Given the description of an element on the screen output the (x, y) to click on. 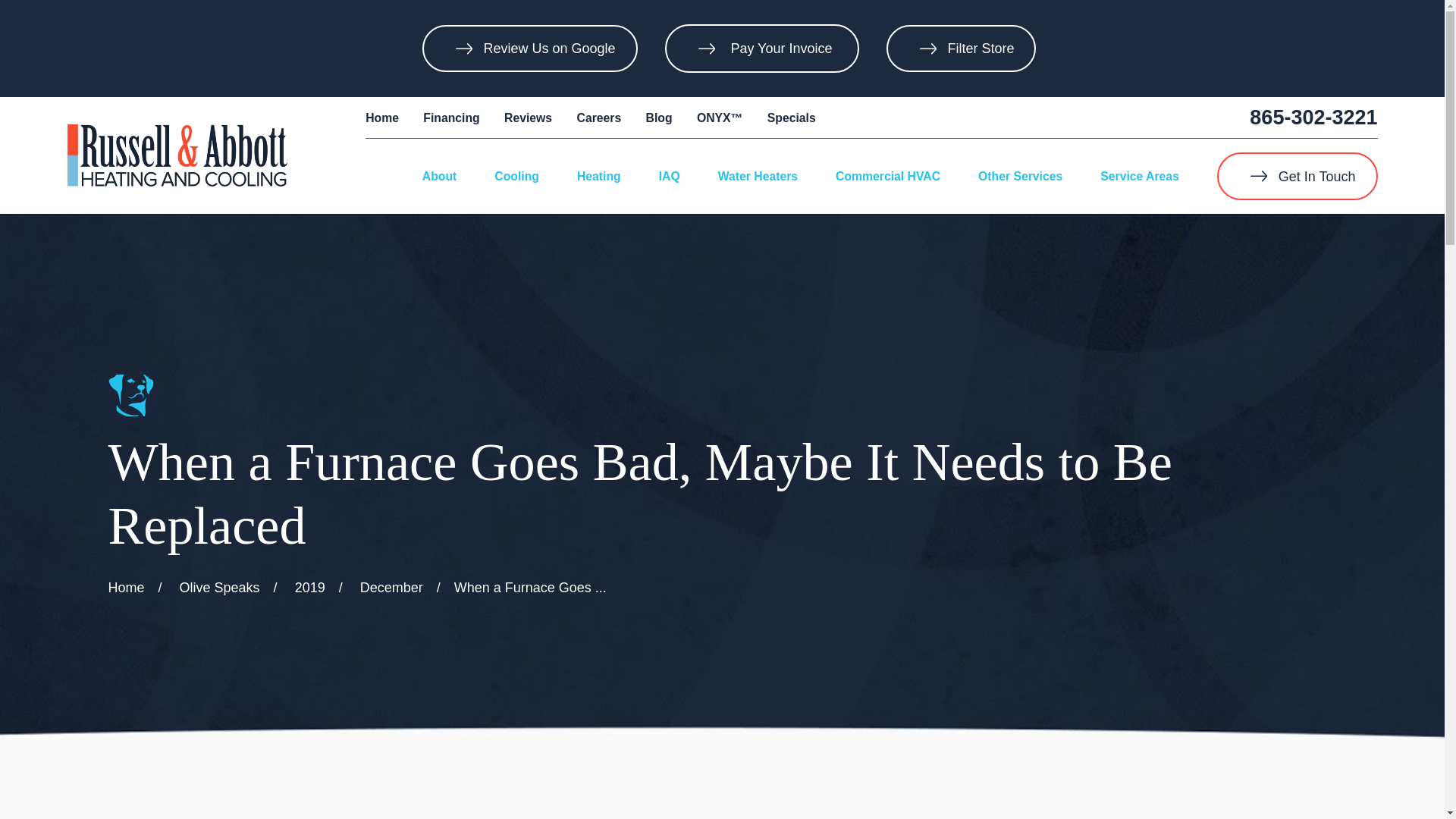
Careers (598, 117)
Home (176, 154)
Go Home (125, 587)
Cooling (516, 175)
Heating (598, 175)
Reviews (527, 117)
Review Us on Google (529, 48)
865-302-3221 (1313, 117)
Specials (791, 117)
Financing (451, 117)
